Given the description of an element on the screen output the (x, y) to click on. 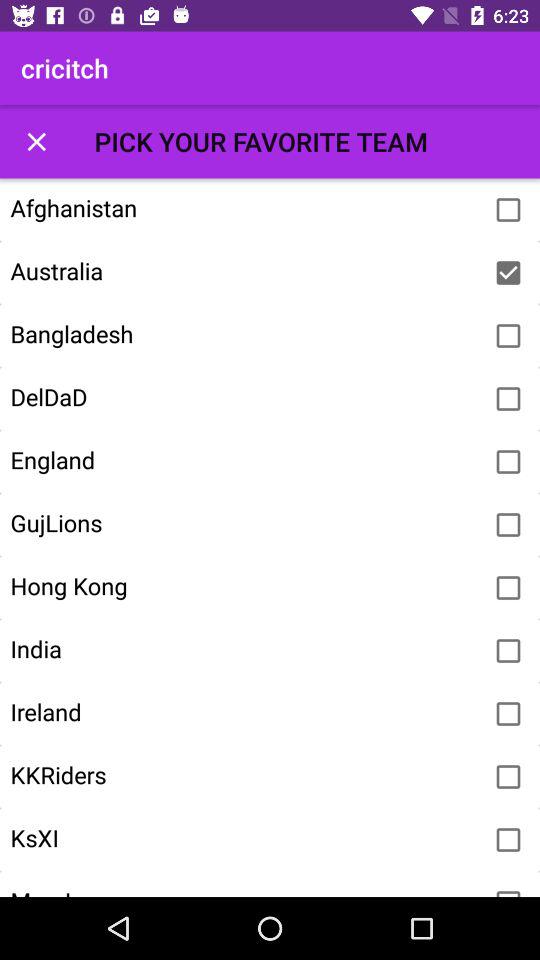
select option (508, 889)
